Given the description of an element on the screen output the (x, y) to click on. 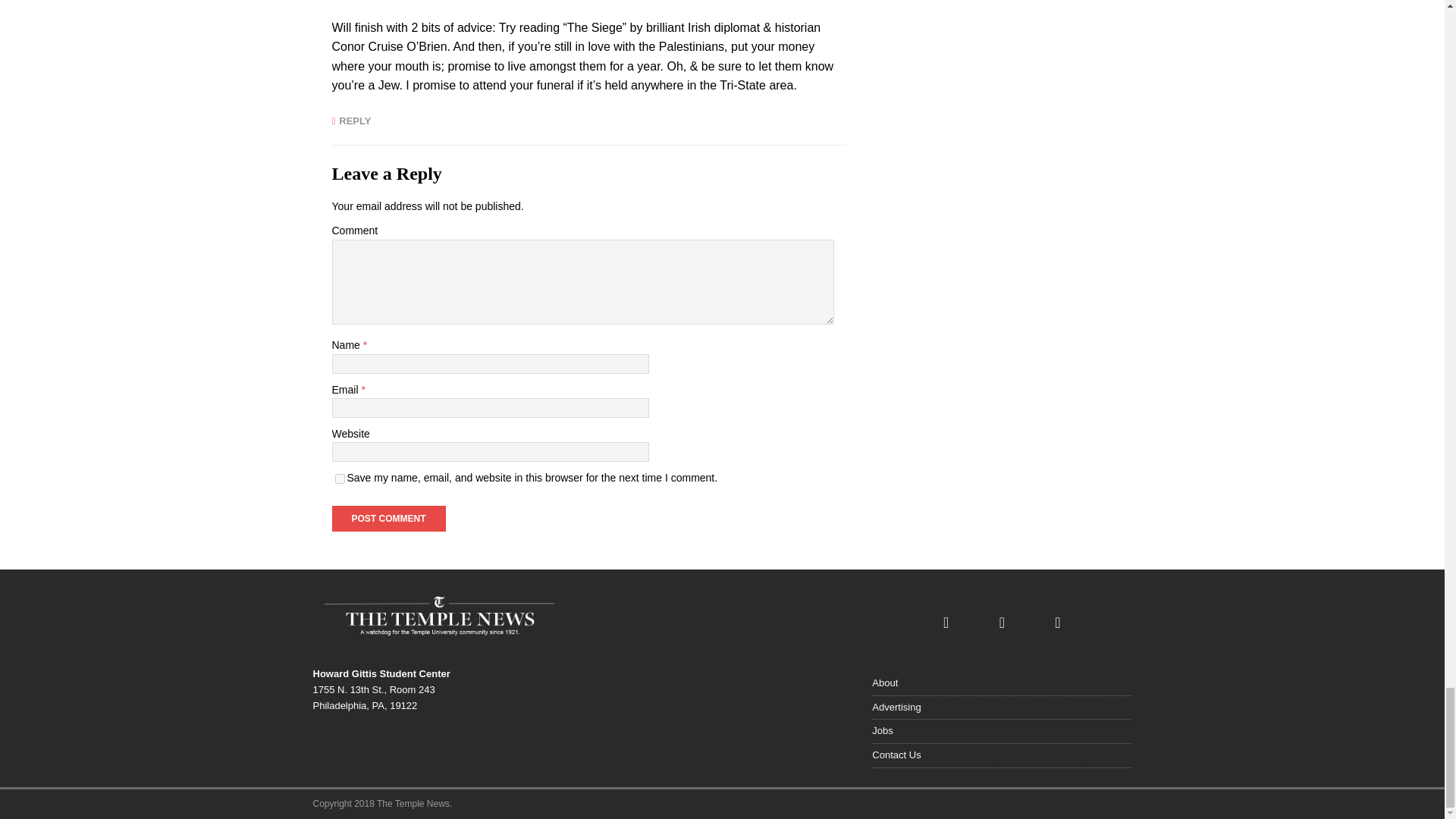
yes (339, 479)
Post Comment (388, 518)
